Given the description of an element on the screen output the (x, y) to click on. 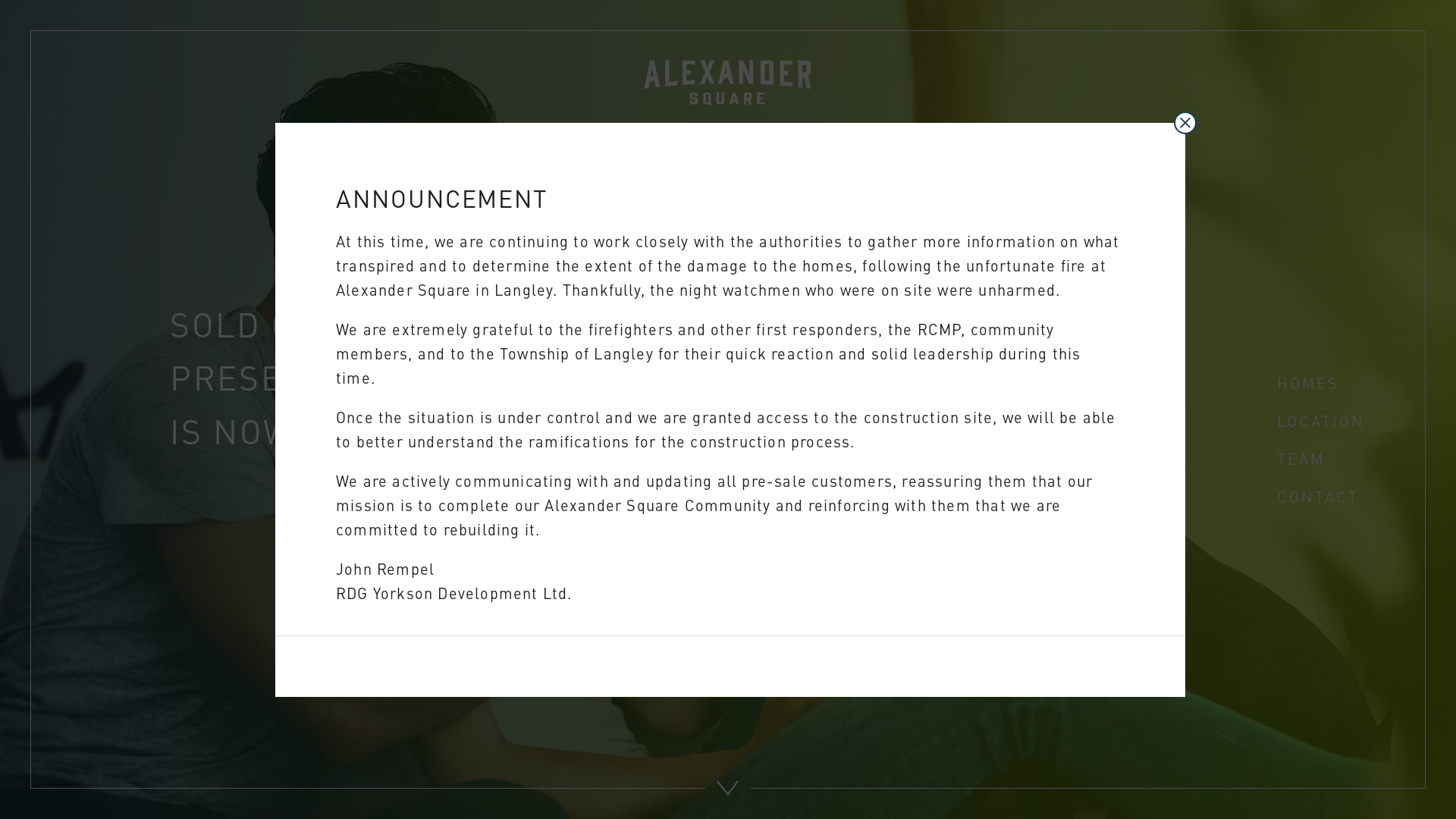
LOCATION Element type: text (1321, 420)
CONTACT Element type: text (1317, 496)
HOMES Element type: text (1308, 382)
TEAM Element type: text (1300, 458)
